Given the description of an element on the screen output the (x, y) to click on. 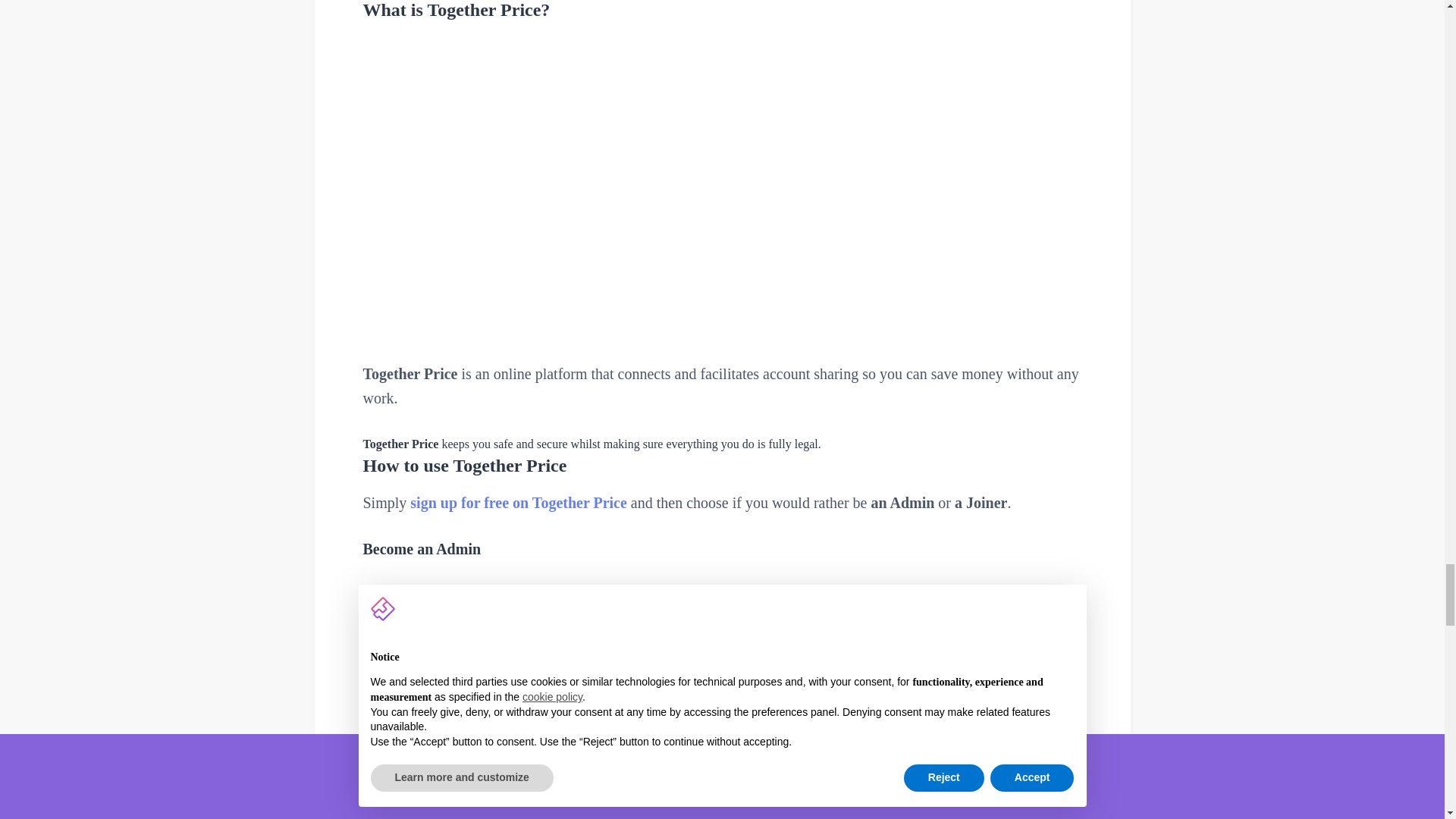
sign up for free on Together Price (518, 502)
What is Together Price? (721, 11)
How to use Together Price (721, 466)
Become an Admin (721, 548)
